Given the description of an element on the screen output the (x, y) to click on. 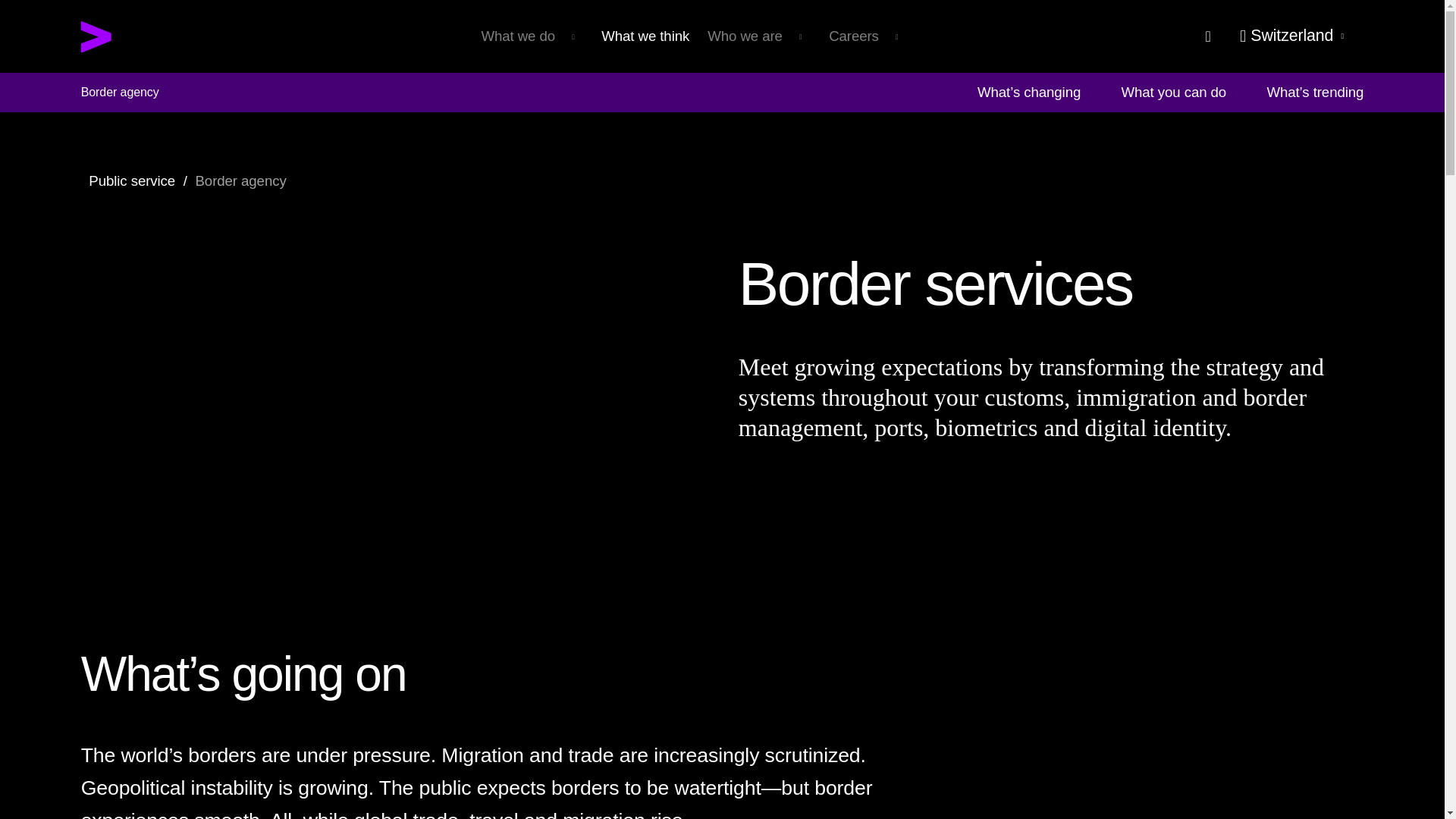
What we do (531, 22)
